Given the description of an element on the screen output the (x, y) to click on. 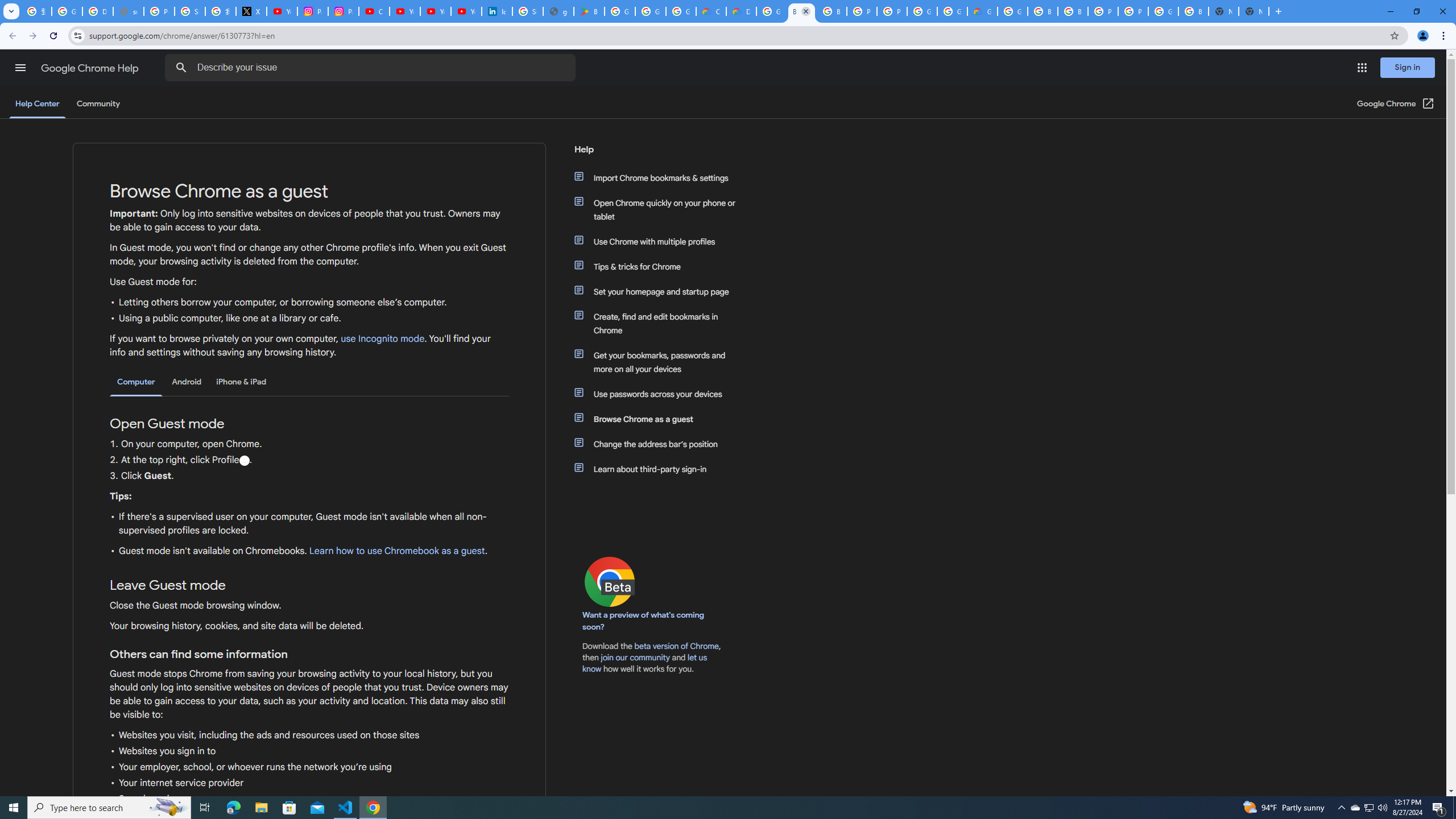
Computer (136, 382)
Sign in - Google Accounts (189, 11)
Create, find and edit bookmarks in Chrome (661, 323)
YouTube Culture & Trends - YouTube Top 10, 2021 (434, 11)
Google Cloud Platform (951, 11)
Customer Care | Google Cloud (710, 11)
Get your bookmarks, passwords and more on all your devices (661, 362)
